Given the description of an element on the screen output the (x, y) to click on. 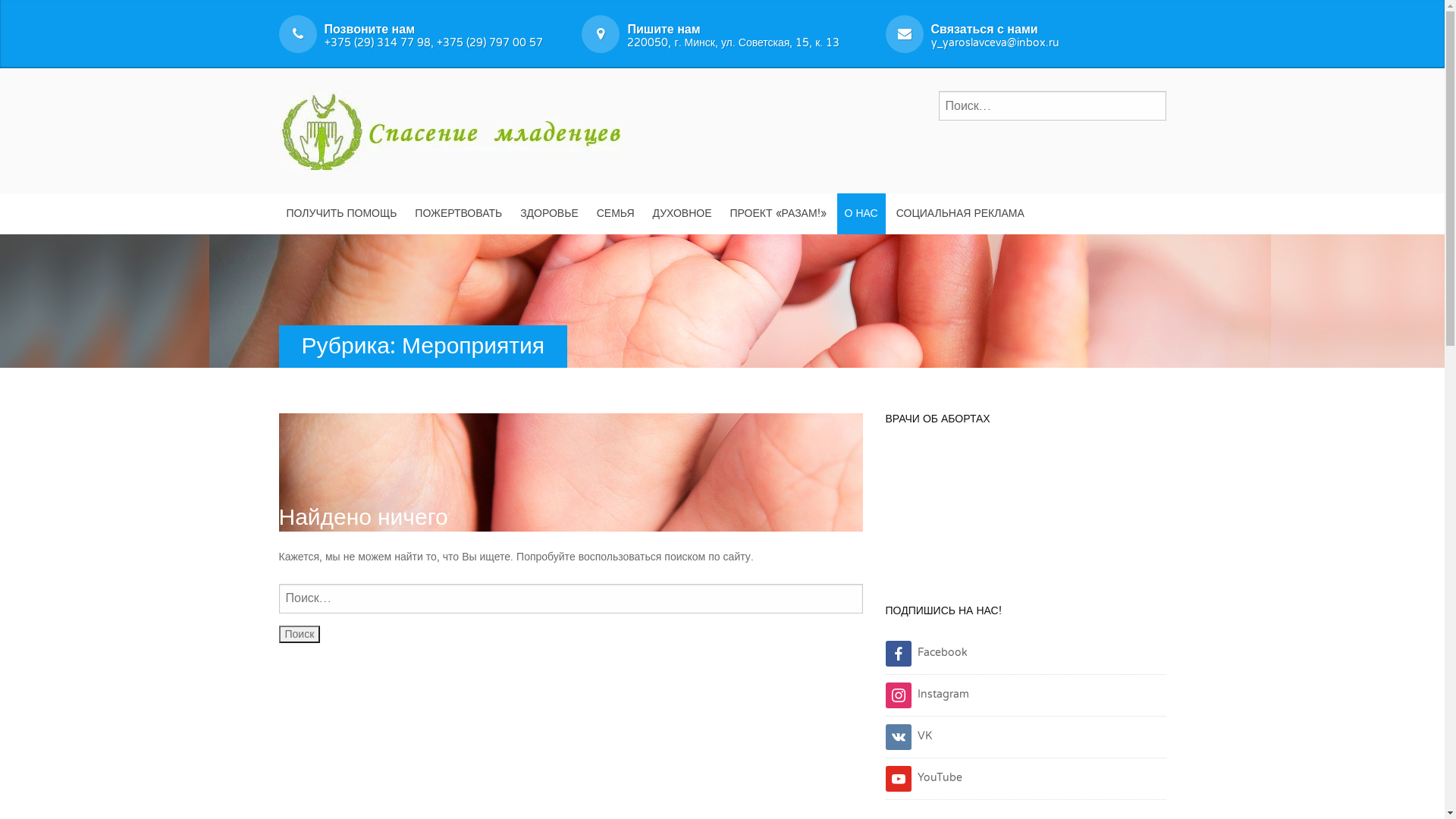
Facebook Element type: text (926, 652)
YouTube video player Element type: hover (1025, 505)
VK Element type: text (908, 735)
Instagram Element type: text (927, 693)
YouTube Element type: text (923, 777)
